Given the description of an element on the screen output the (x, y) to click on. 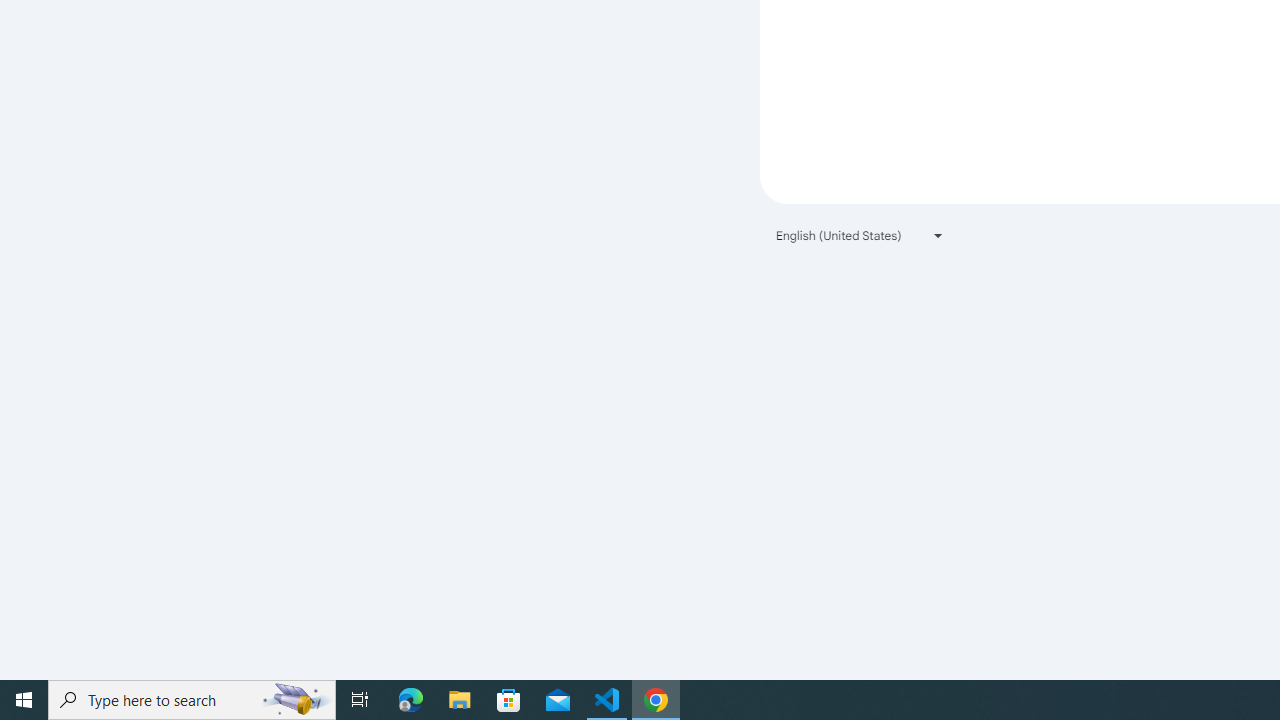
English (United States) (860, 234)
